Given the description of an element on the screen output the (x, y) to click on. 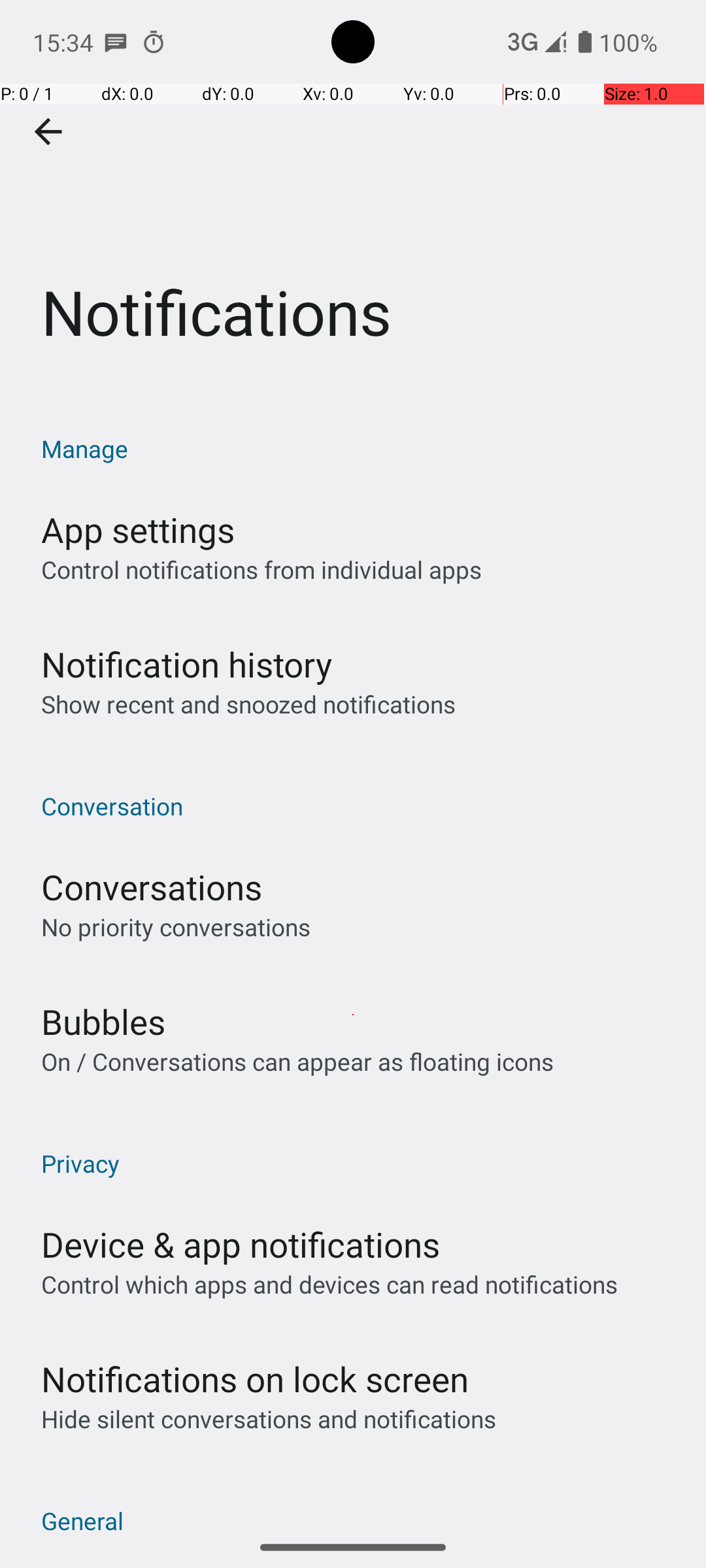
On / Conversations can appear as floating icons Element type: android.widget.TextView (297, 1061)
Hide silent conversations and notifications Element type: android.widget.TextView (268, 1418)
